Given the description of an element on the screen output the (x, y) to click on. 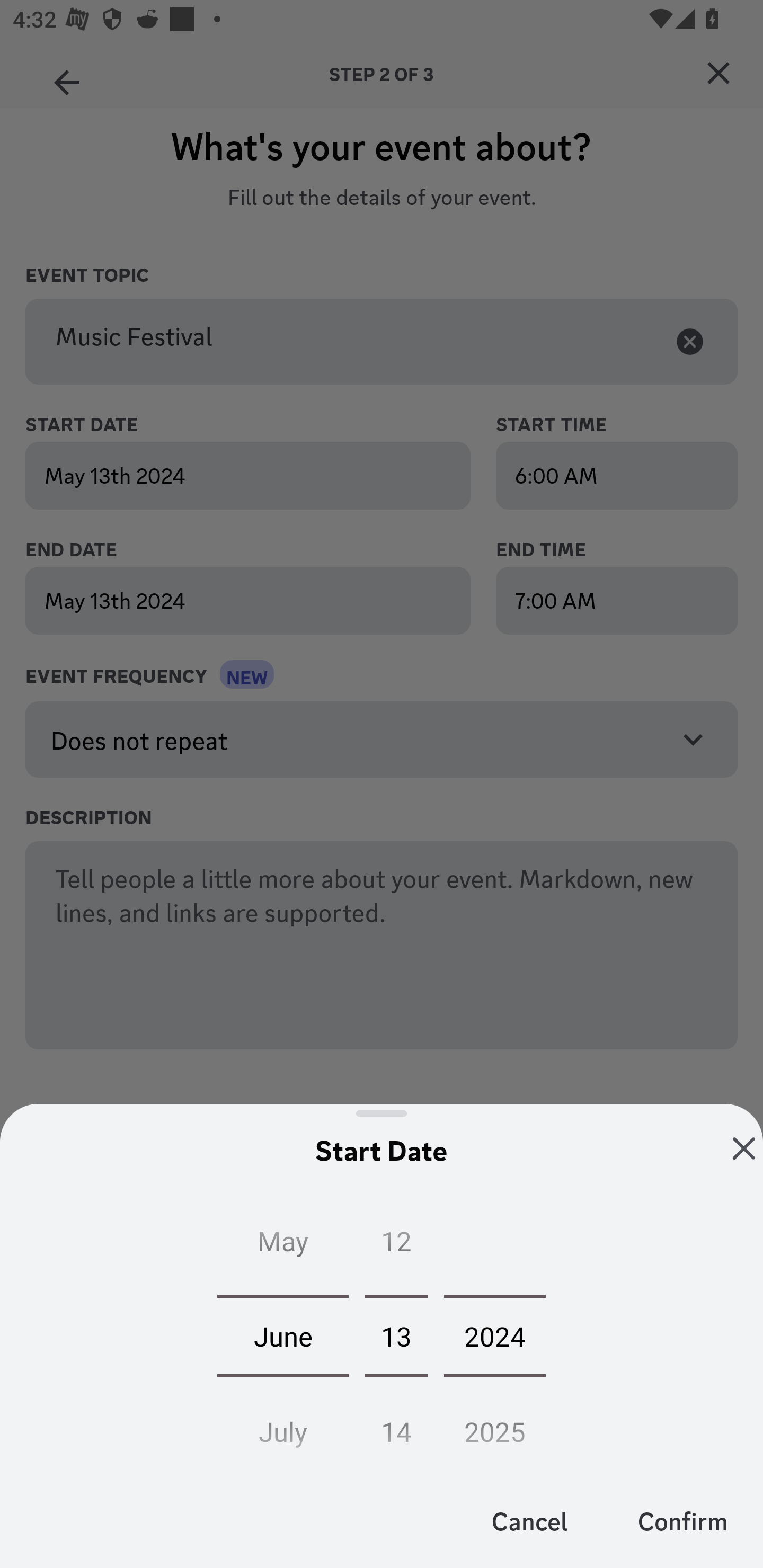
Close (743, 1148)
May (282, 1245)
12 (396, 1245)
June (282, 1335)
13 (396, 1335)
2024 (494, 1335)
July (282, 1425)
14 (396, 1425)
2025 (494, 1425)
Cancel (529, 1520)
Confirm (682, 1520)
